Given the description of an element on the screen output the (x, y) to click on. 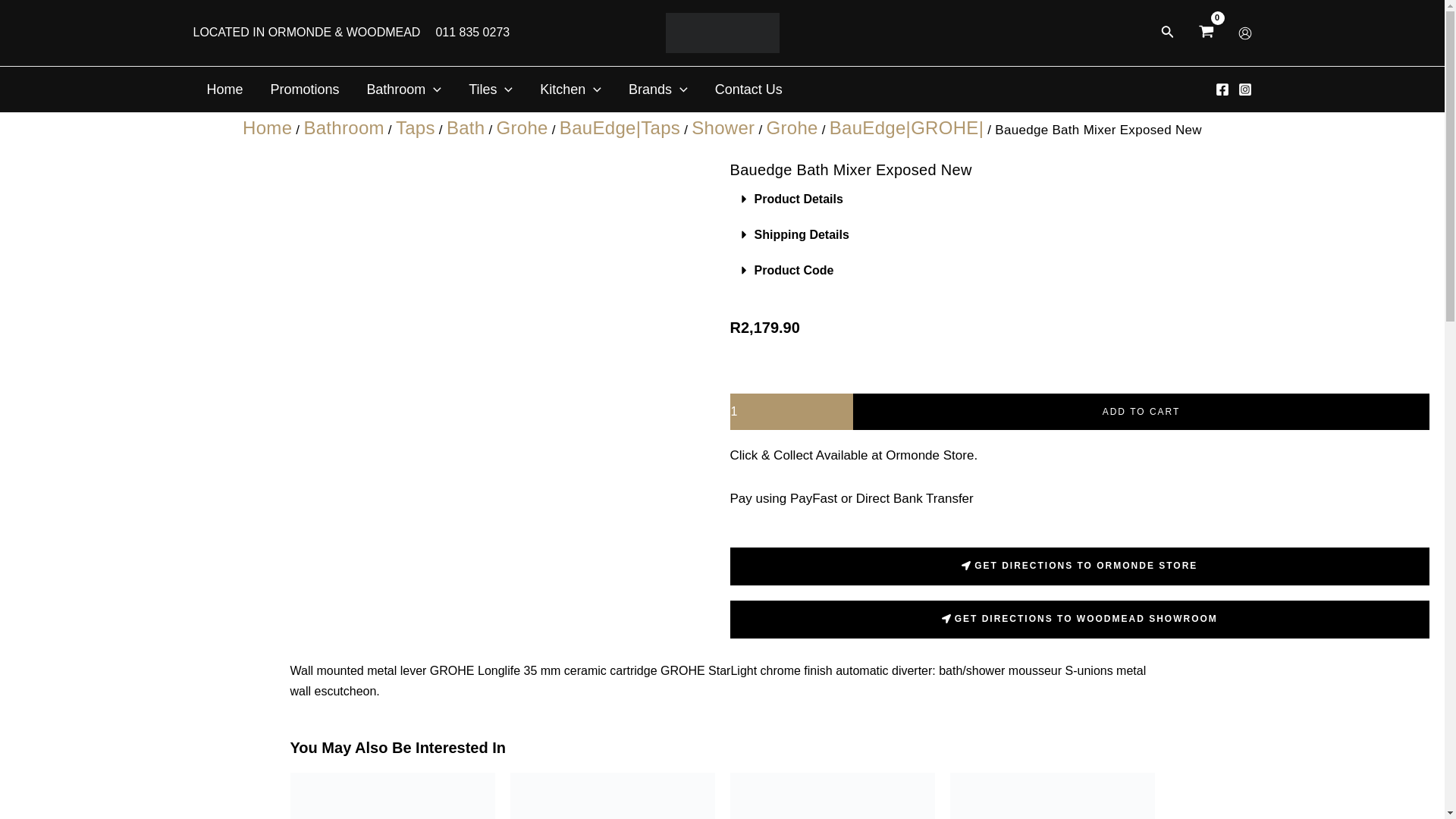
1 (791, 411)
Bathroom (403, 89)
Promotions (304, 89)
Home (224, 89)
